Given the description of an element on the screen output the (x, y) to click on. 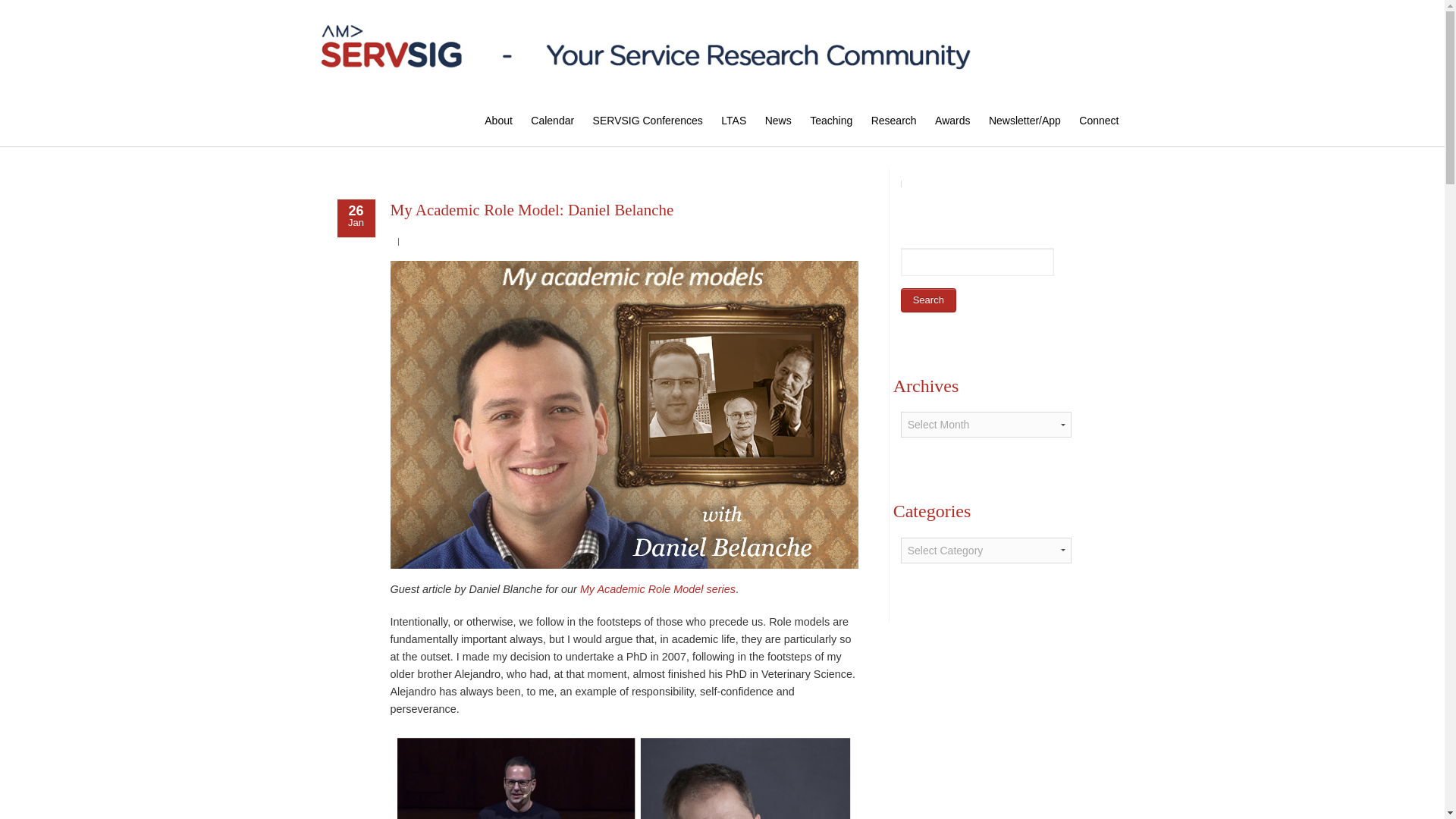
Teaching (830, 120)
About (498, 120)
Calendar (552, 120)
Search (928, 300)
LTAS (732, 120)
SERVSIG Conferences (647, 120)
My Academic Role Model: Daniel Belanche (531, 209)
News (778, 120)
News (778, 120)
